Given the description of an element on the screen output the (x, y) to click on. 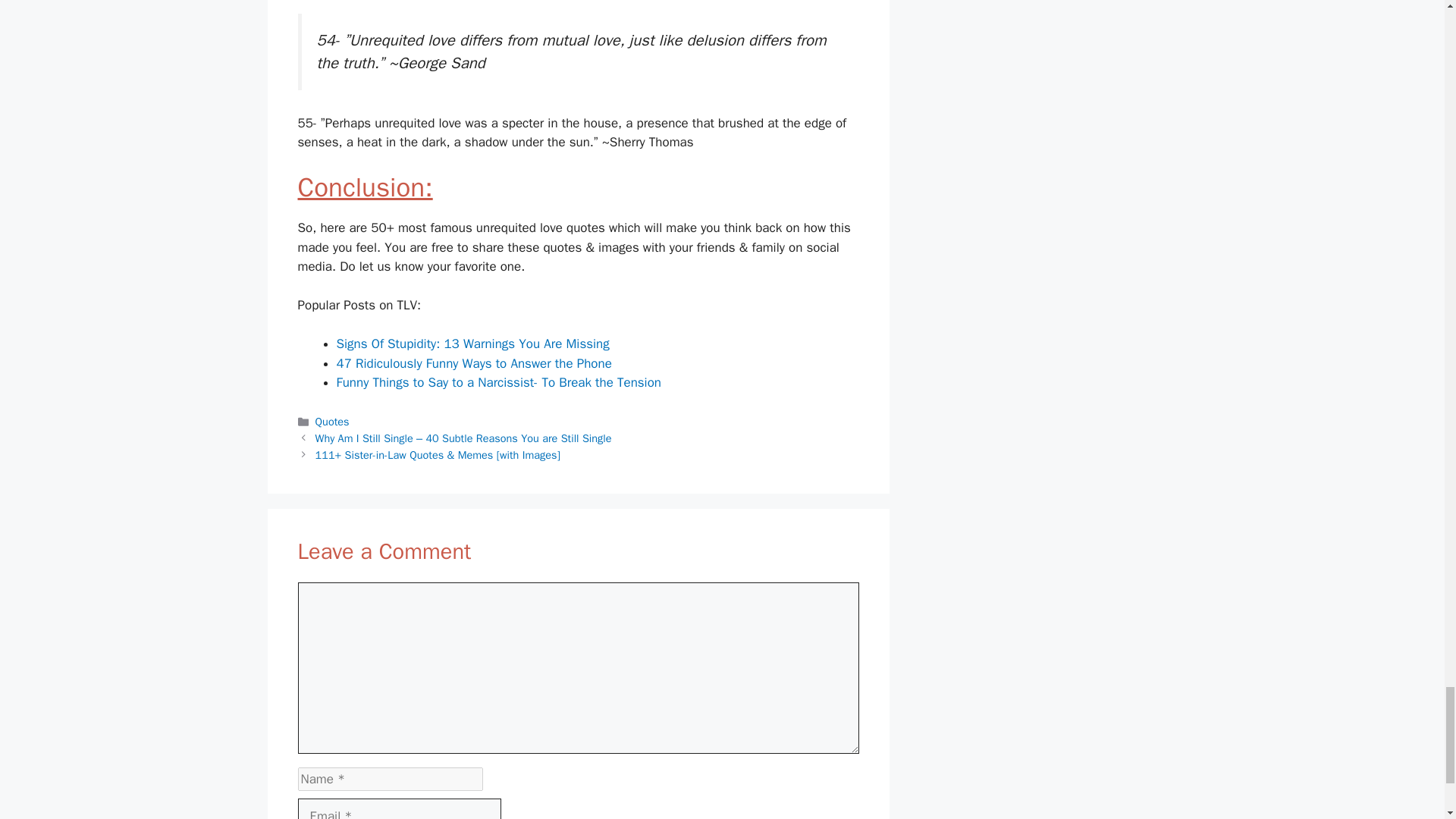
Quotes (332, 421)
Funny Things to Say to a Narcissist- To Break the Tension (499, 382)
47 Ridiculously Funny Ways to Answer the Phone (473, 363)
Signs Of Stupidity: 13 Warnings You Are Missing (473, 343)
